Given the description of an element on the screen output the (x, y) to click on. 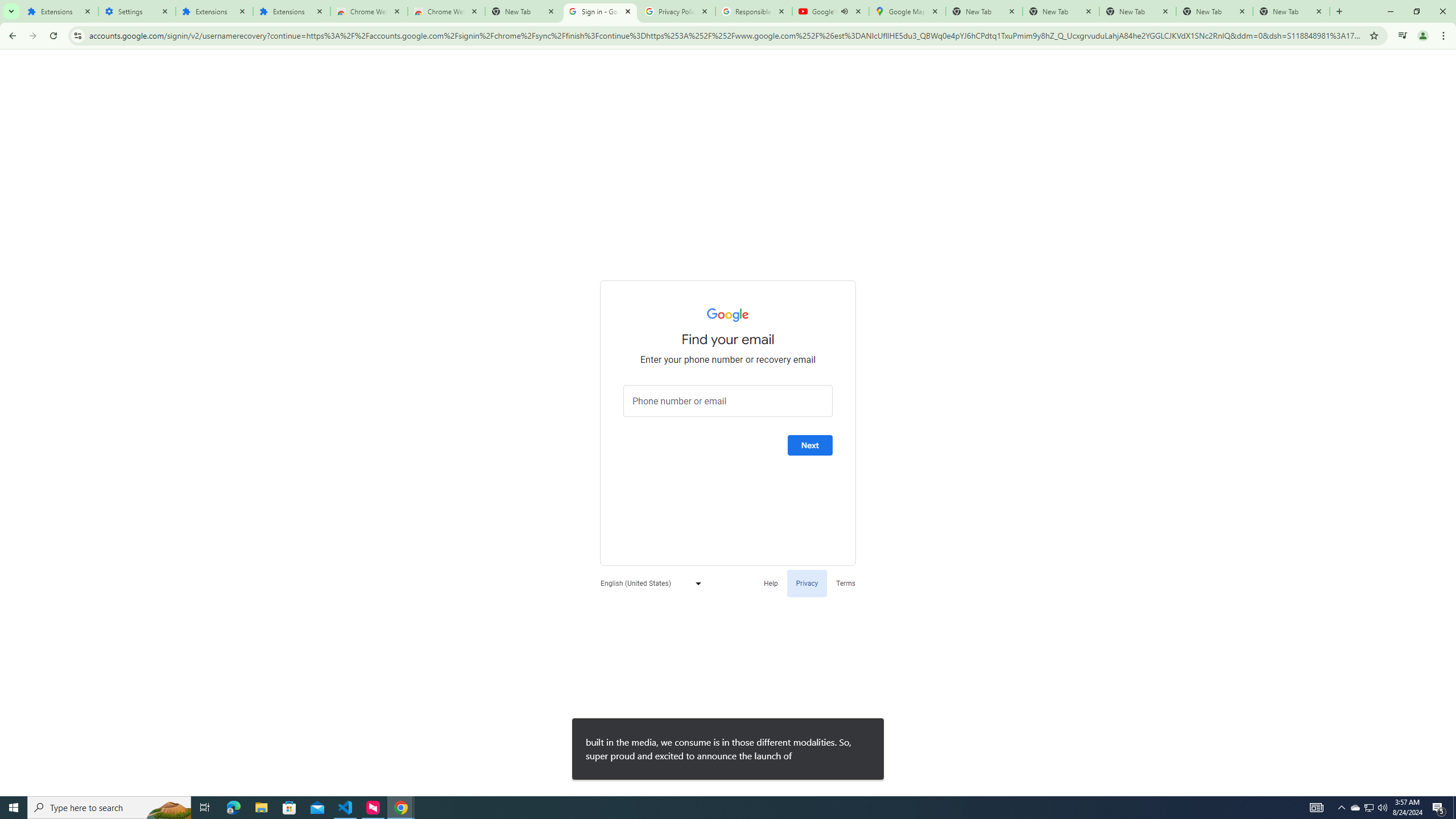
New Tab (1291, 11)
Next (809, 445)
Privacy (806, 583)
